Given the description of an element on the screen output the (x, y) to click on. 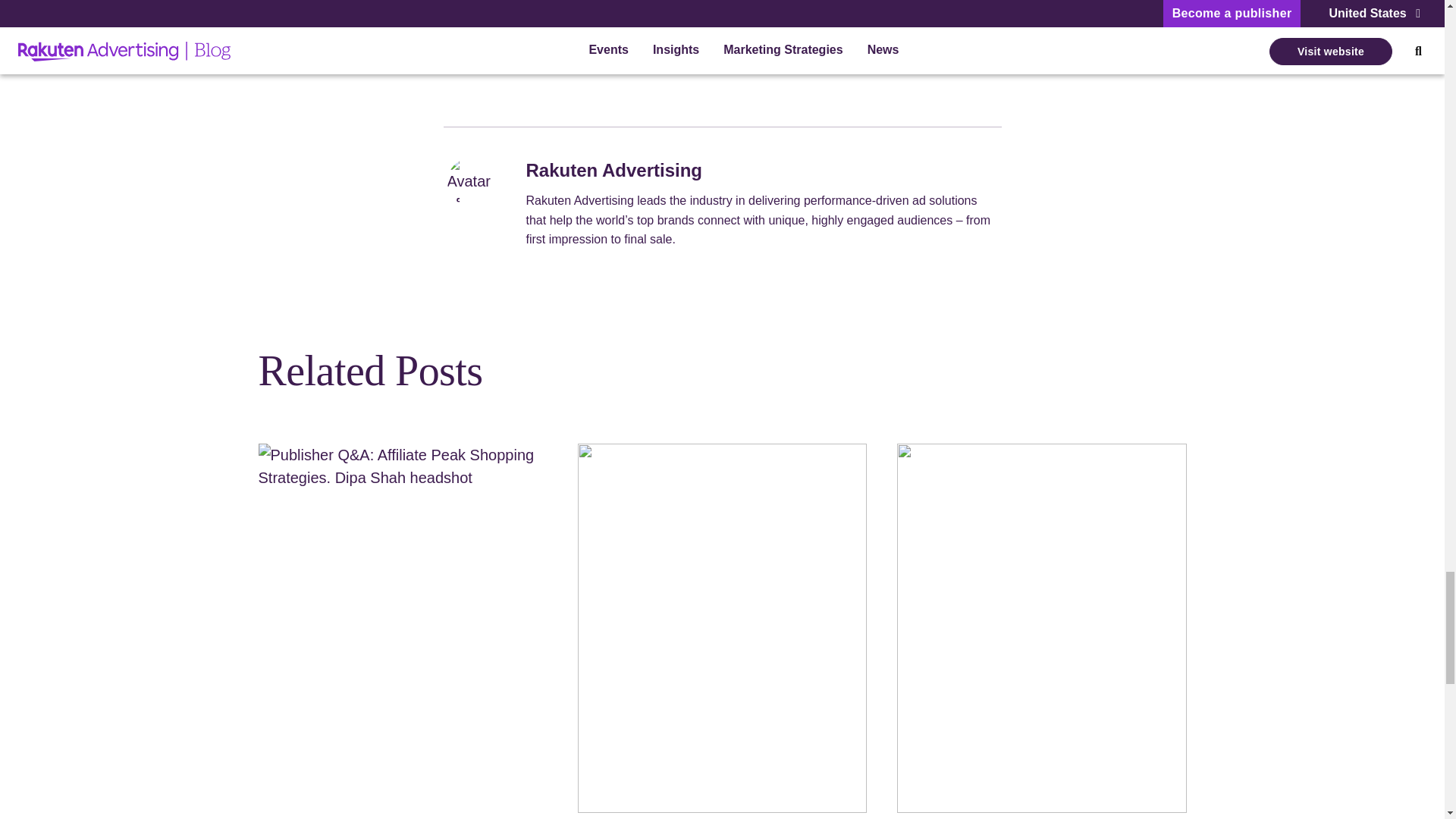
Check out our resource center (544, 20)
